Given the description of an element on the screen output the (x, y) to click on. 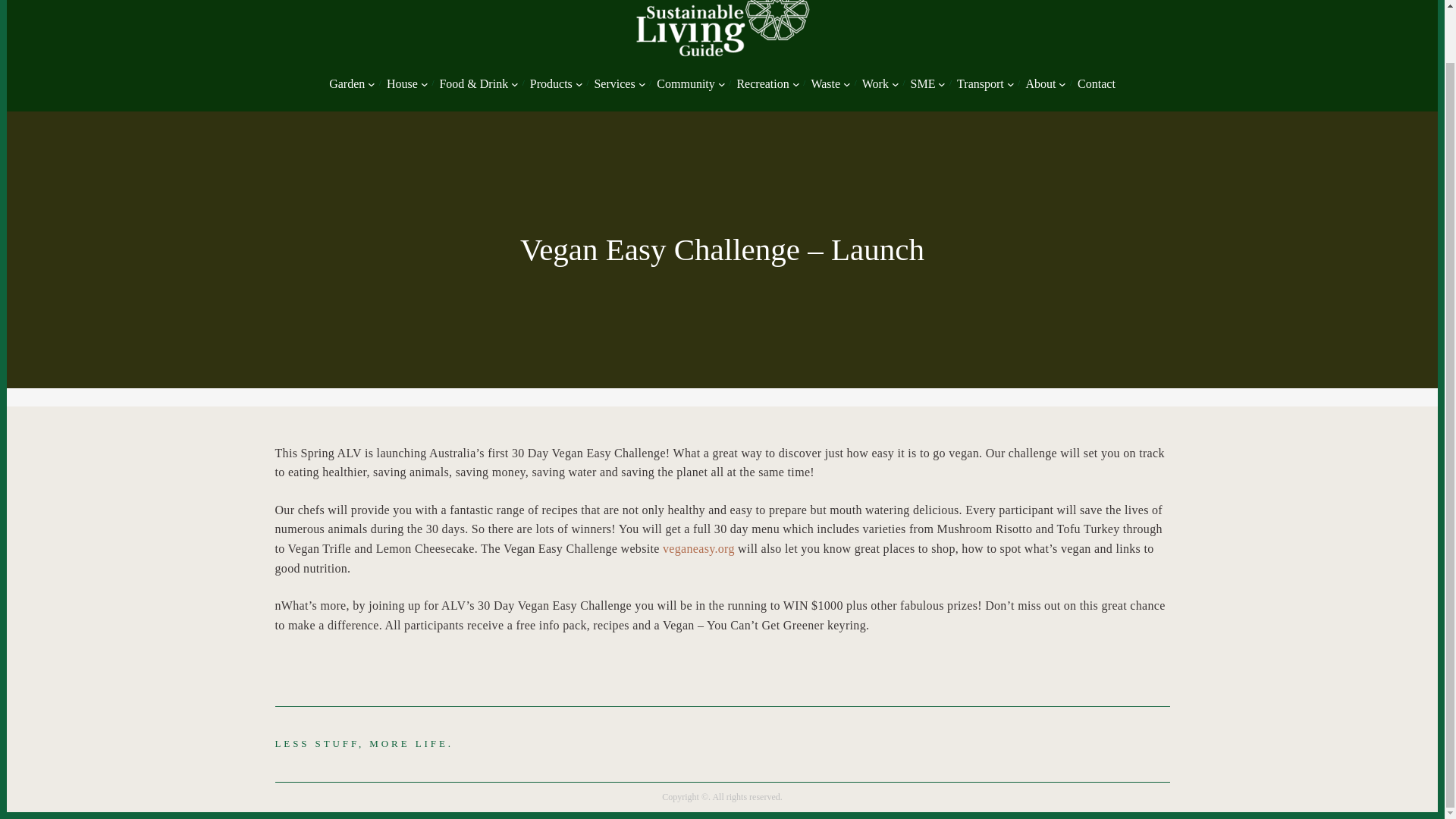
Products (550, 84)
Garden (347, 84)
House (402, 84)
